Given the description of an element on the screen output the (x, y) to click on. 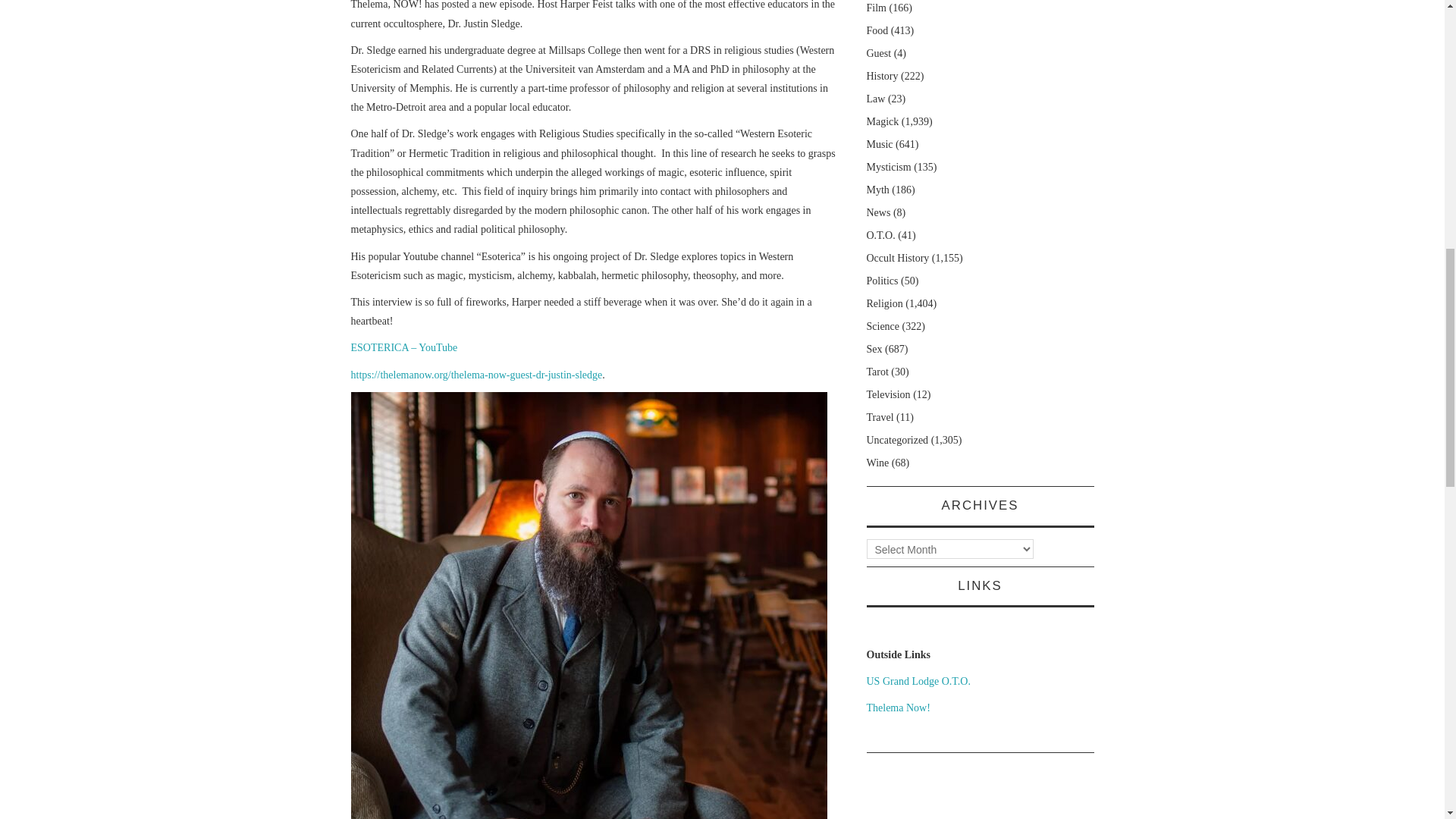
Guest (878, 52)
History (882, 75)
Food (877, 30)
Film (875, 7)
